Given the description of an element on the screen output the (x, y) to click on. 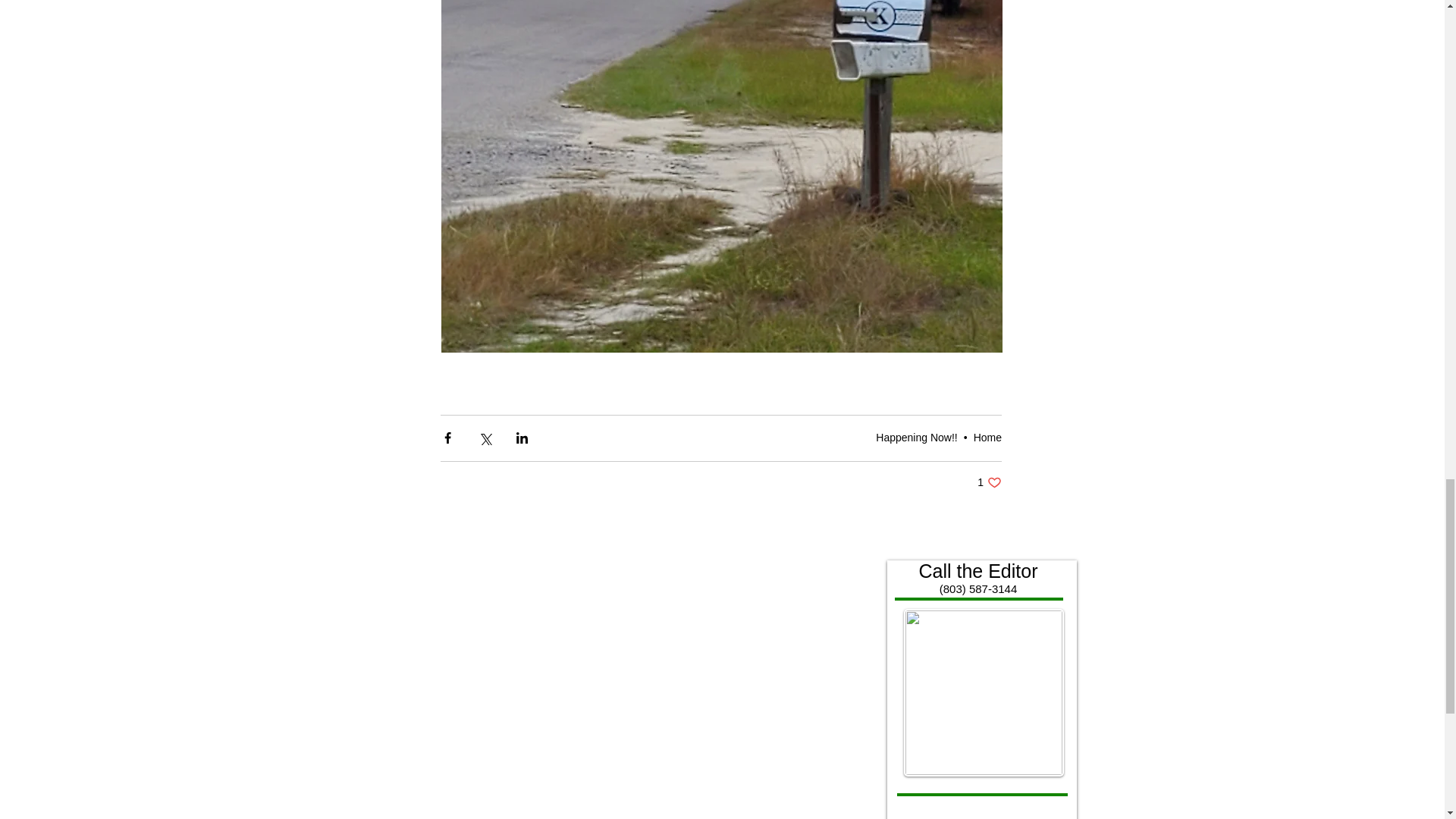
Happening Now!! (916, 437)
Home (988, 482)
